Given the description of an element on the screen output the (x, y) to click on. 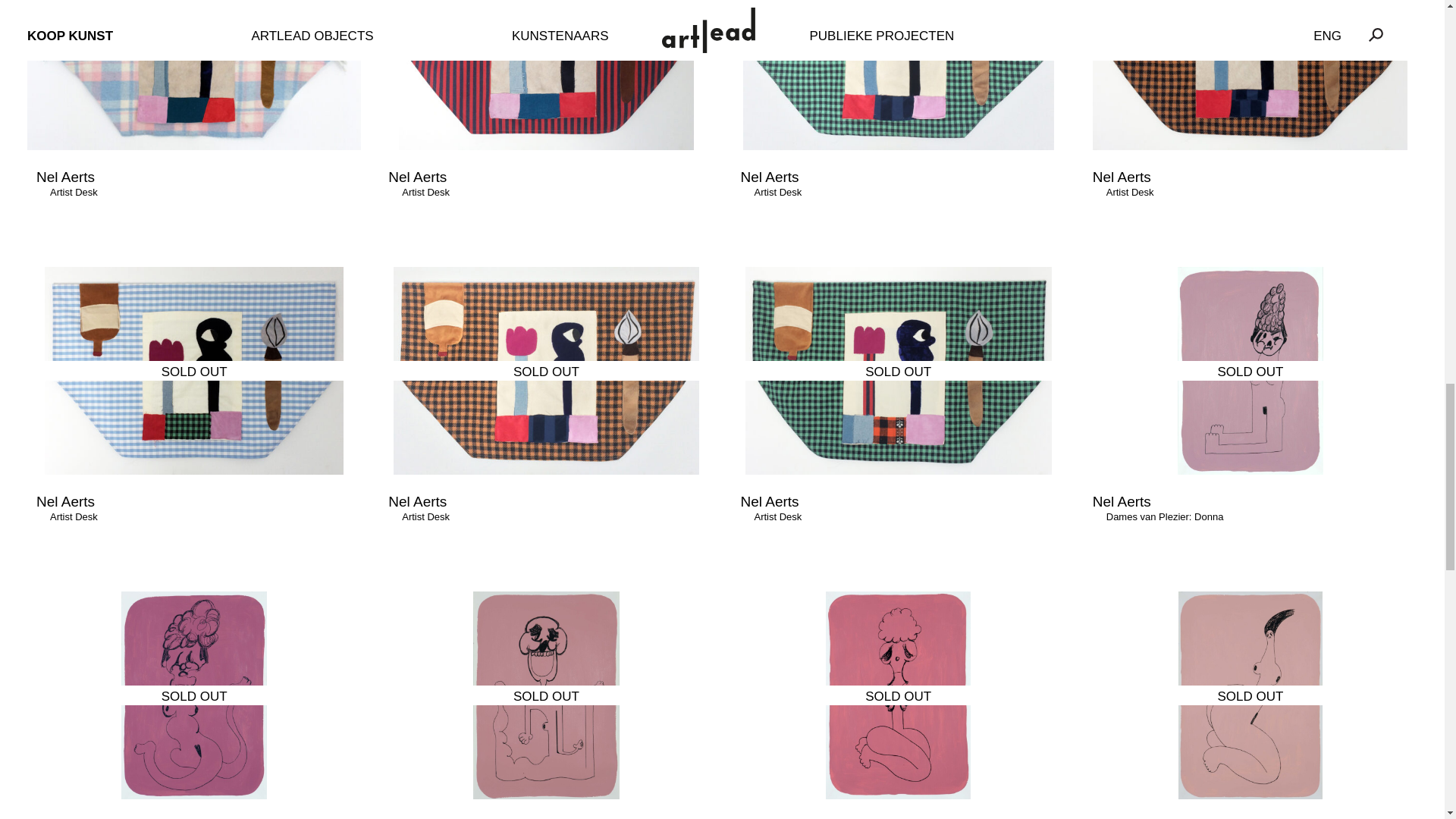
Nel Aerts - Artist Desk - 2017 (898, 74)
Nel Aerts - Artist Desk - 2017 (194, 74)
Nel Aerts - Artist Desk - 2017 (193, 370)
Nel Aerts (768, 176)
Nel Aerts - Artist Desk - 2017 (1250, 74)
Nel Aerts - Artist Desk - 2017 (546, 74)
Nel Aerts - Artist Desk - 2017 (898, 370)
Nel Aerts (417, 176)
Nel Aerts (65, 176)
Nel Aerts - Artist Desk - 2017 (545, 370)
